Given the description of an element on the screen output the (x, y) to click on. 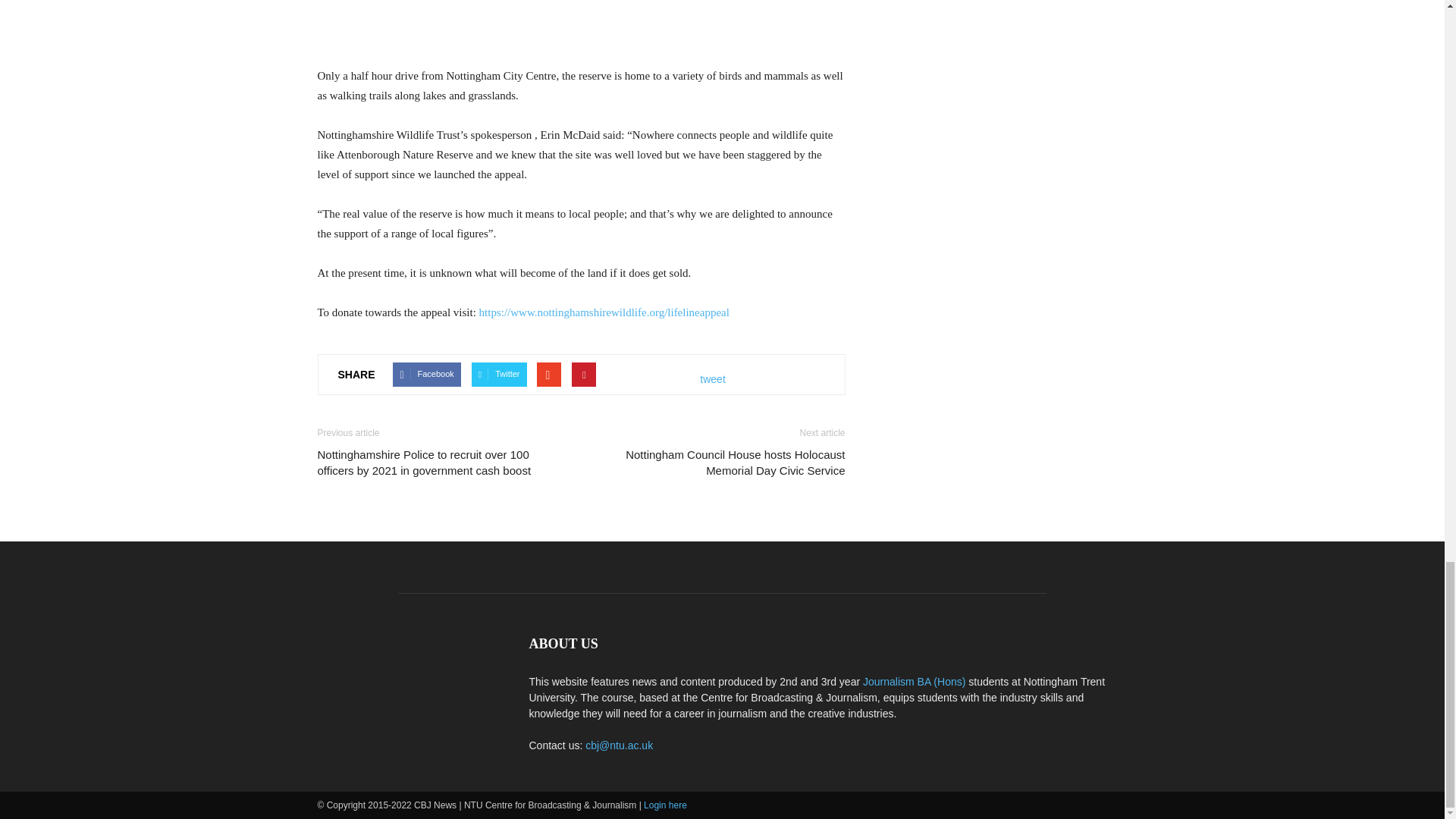
Facebook (426, 374)
Twitter (499, 374)
tweet (712, 379)
